Given the description of an element on the screen output the (x, y) to click on. 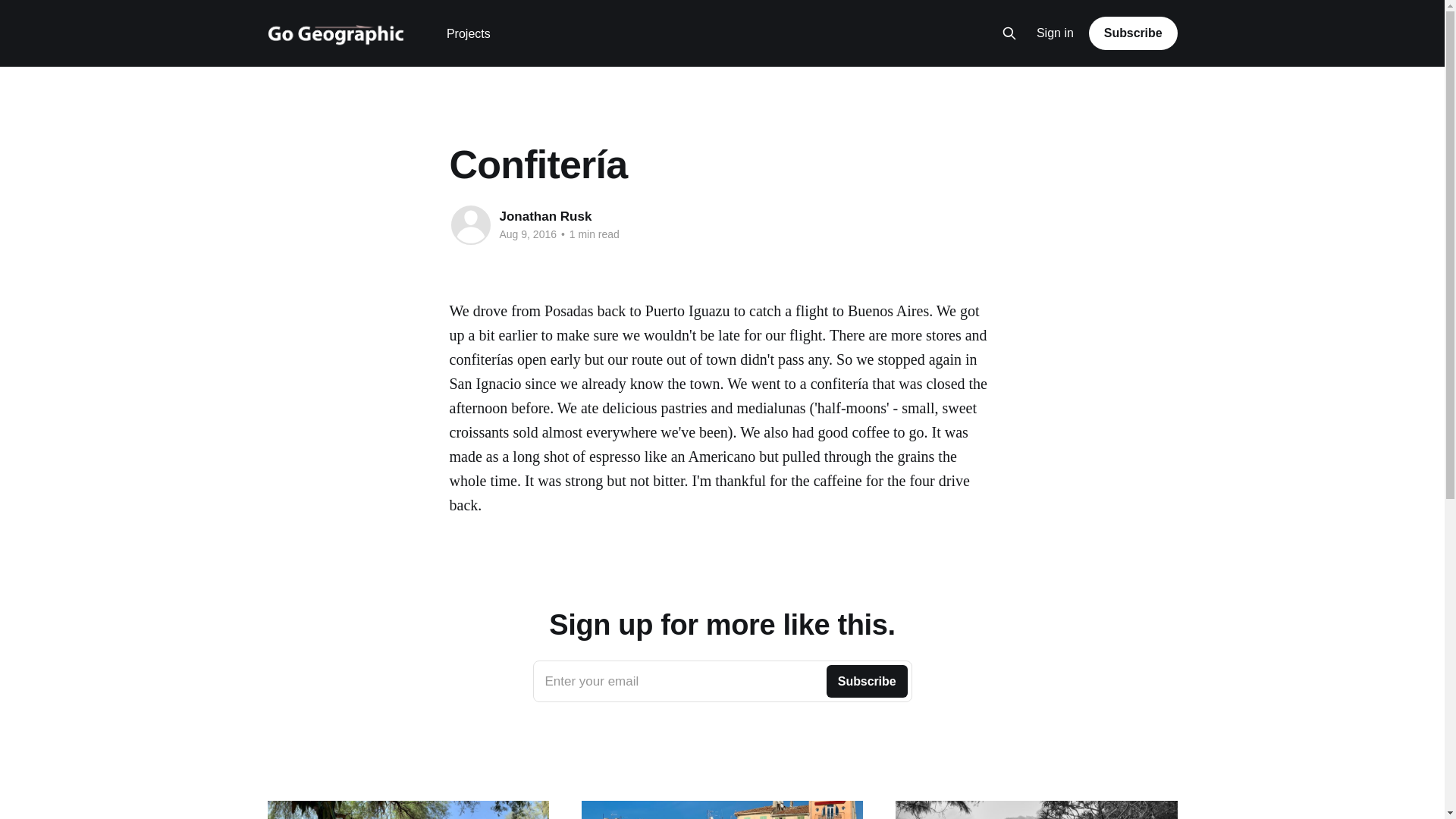
Subscribe (1133, 32)
Sign in (1055, 33)
Projects (468, 33)
Jonathan Rusk (545, 216)
